Given the description of an element on the screen output the (x, y) to click on. 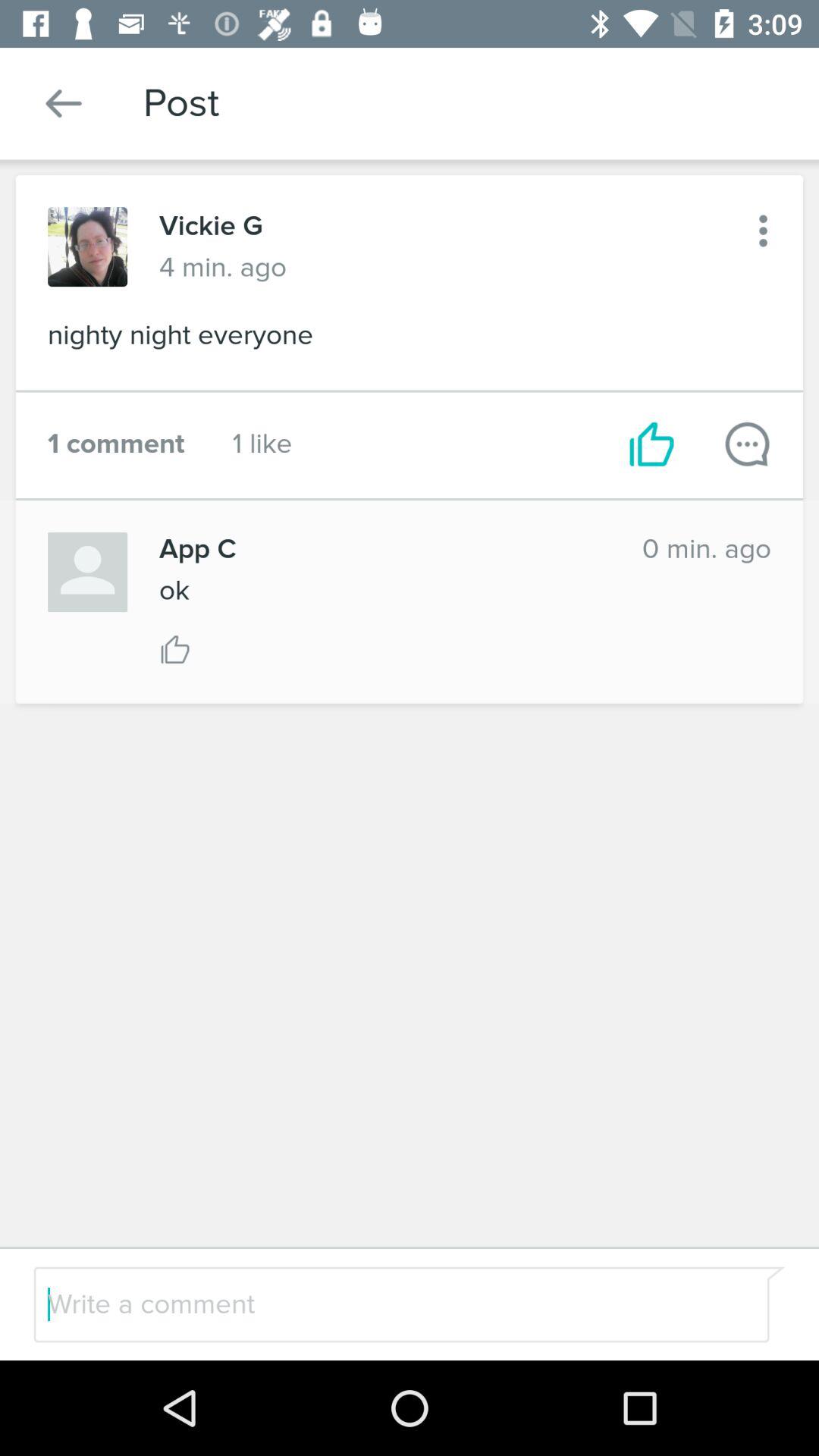
clicar para ver a foto (87, 246)
